Given the description of an element on the screen output the (x, y) to click on. 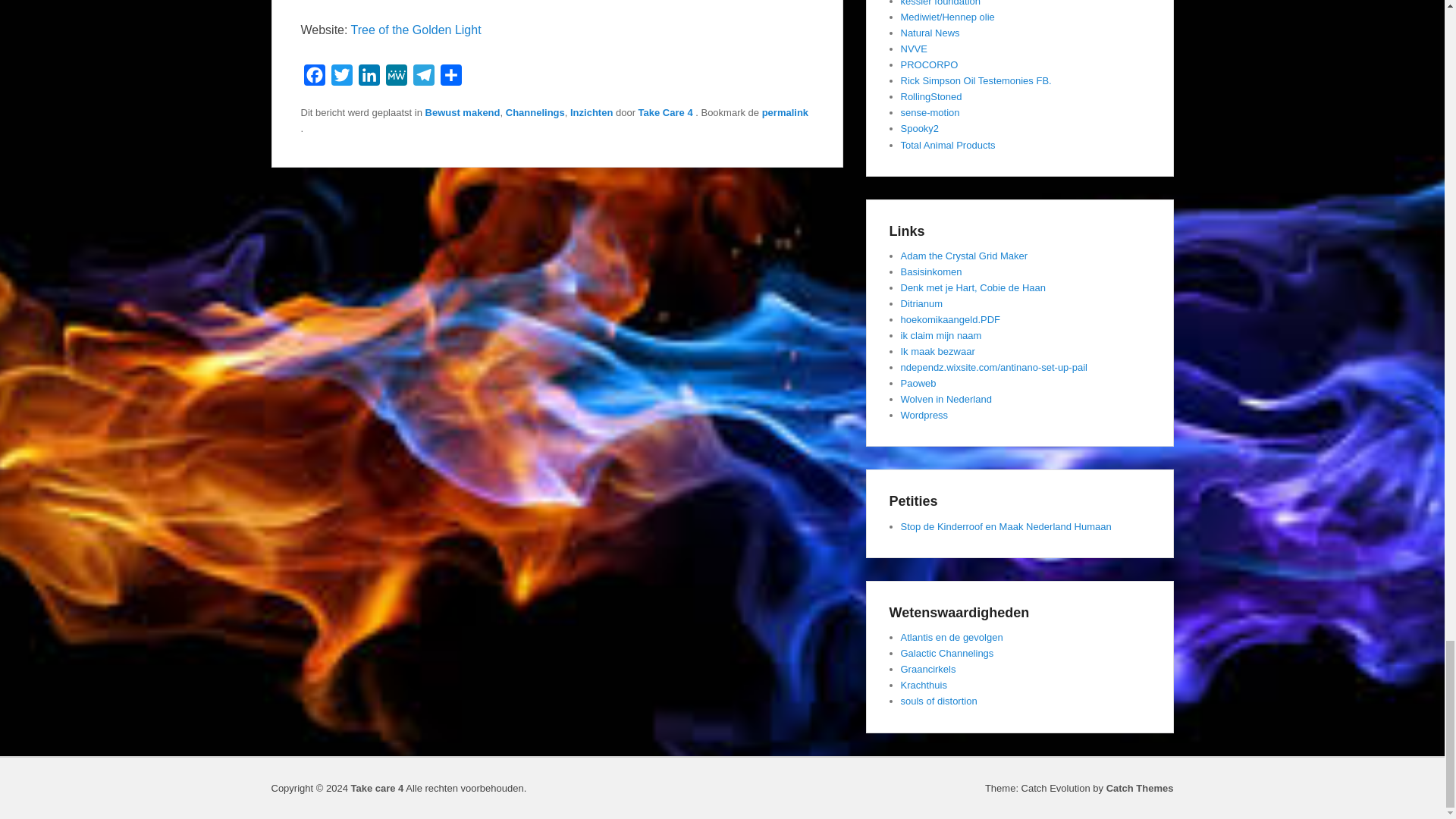
Telegram (422, 78)
Permalink om A Message from Mike Quinsey (784, 112)
Catch Themes (1139, 787)
MeWe (395, 78)
Take care 4 (376, 787)
LinkedIn (368, 78)
Facebook (313, 78)
Twitter (341, 78)
